Given the description of an element on the screen output the (x, y) to click on. 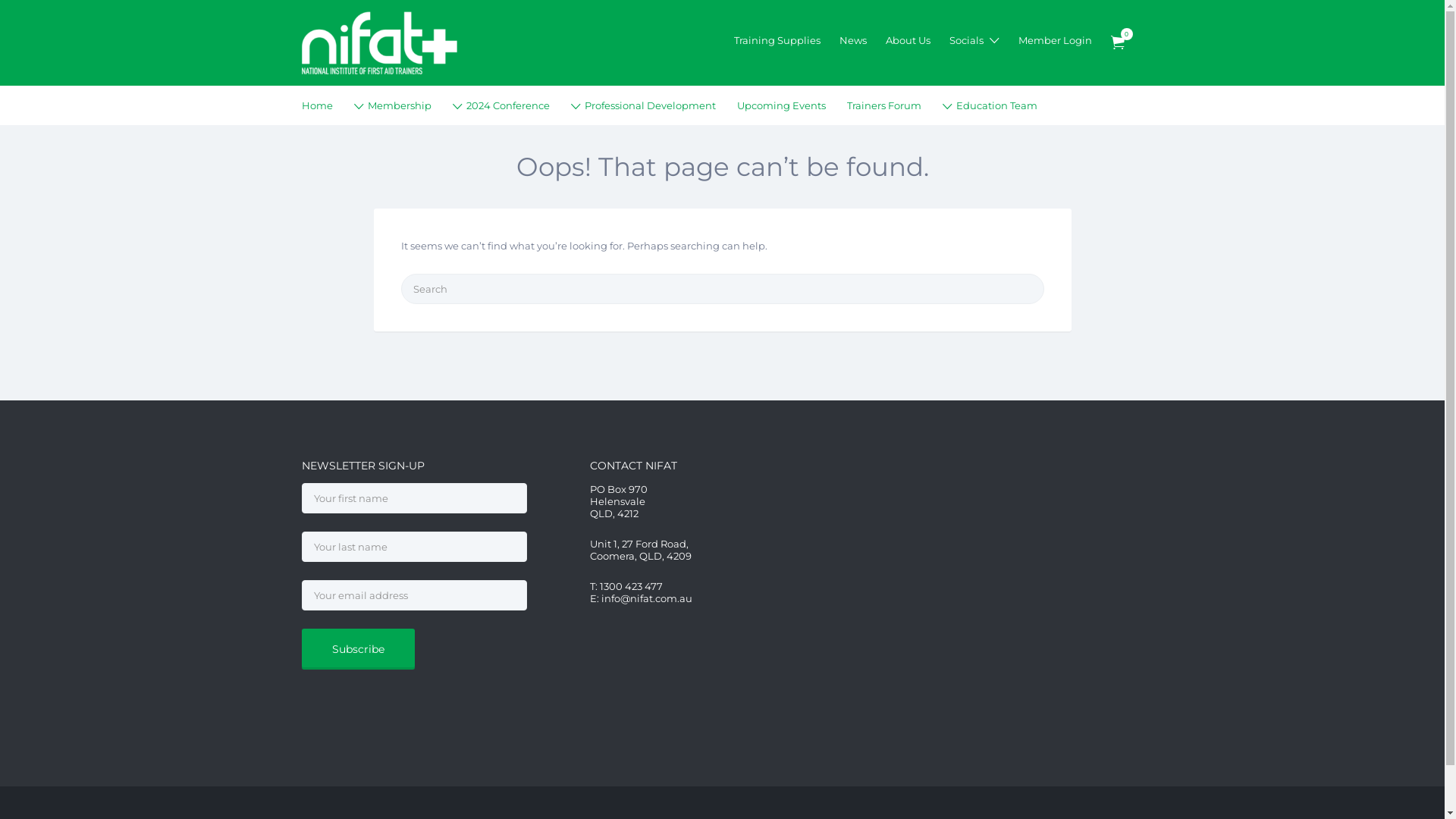
Search for: Element type: hover (721, 288)
Education Team Element type: text (995, 105)
2024 Conference Element type: text (507, 105)
Upcoming Events Element type: text (781, 105)
News Element type: text (852, 39)
0
Items Element type: text (1116, 42)
Member Login Element type: text (1054, 39)
Home Element type: text (316, 105)
Membership Element type: text (398, 105)
Subscribe Element type: text (357, 648)
Professional Development Element type: text (649, 105)
Socials Element type: text (966, 39)
About Us Element type: text (907, 39)
Trainers Forum Element type: text (883, 105)
Training Supplies Element type: text (777, 39)
